Given the description of an element on the screen output the (x, y) to click on. 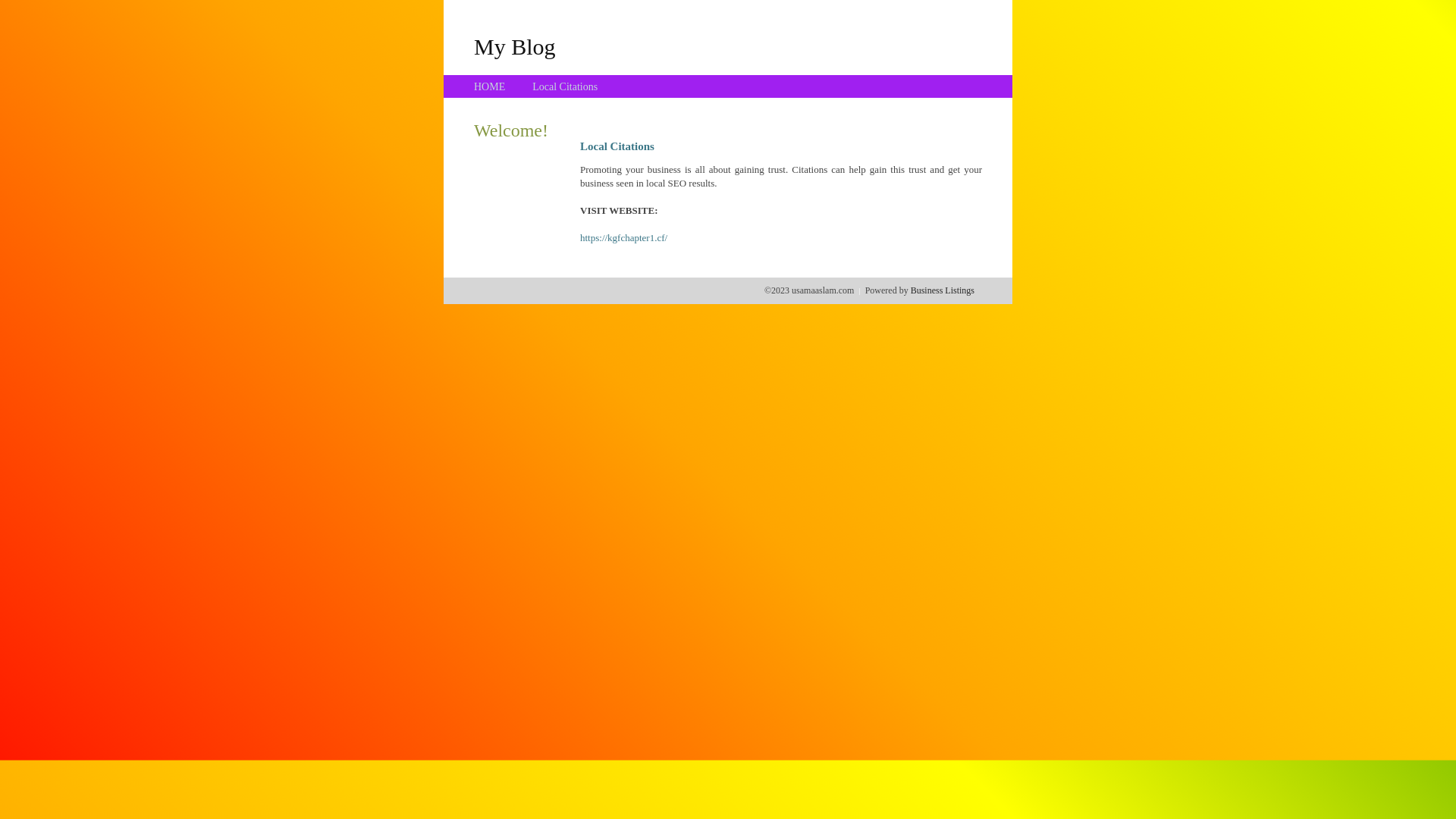
Business Listings Element type: text (942, 290)
https://kgfchapter1.cf/ Element type: text (623, 237)
My Blog Element type: text (514, 46)
HOME Element type: text (489, 86)
Local Citations Element type: text (564, 86)
